Given the description of an element on the screen output the (x, y) to click on. 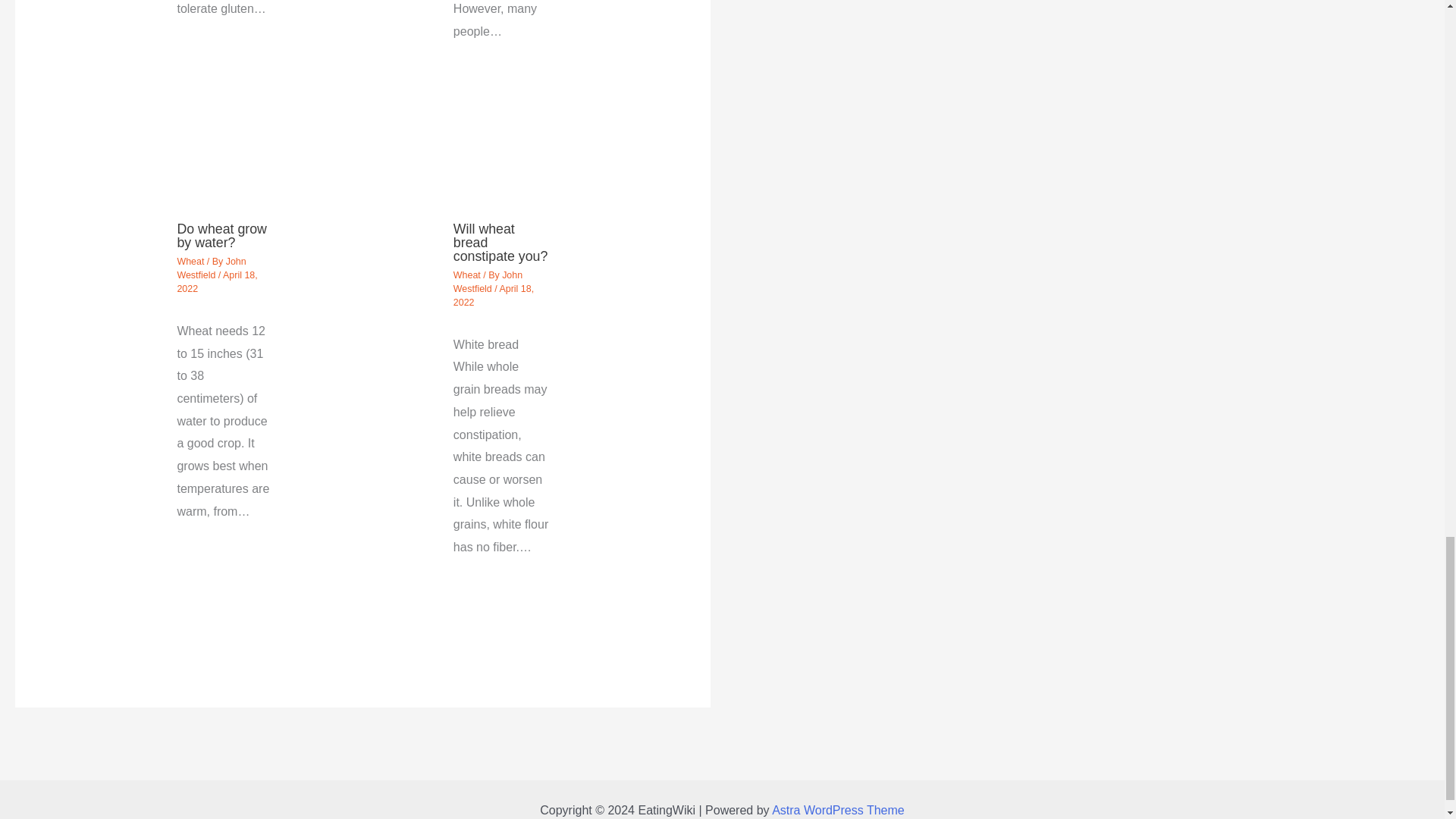
Wheat (189, 261)
John Westfield (211, 268)
Will wheat bread constipate you? (499, 242)
Do wheat grow by water? (221, 235)
View all posts by John Westfield (487, 282)
John Westfield (487, 282)
View all posts by John Westfield (211, 268)
Wheat (466, 275)
